Given the description of an element on the screen output the (x, y) to click on. 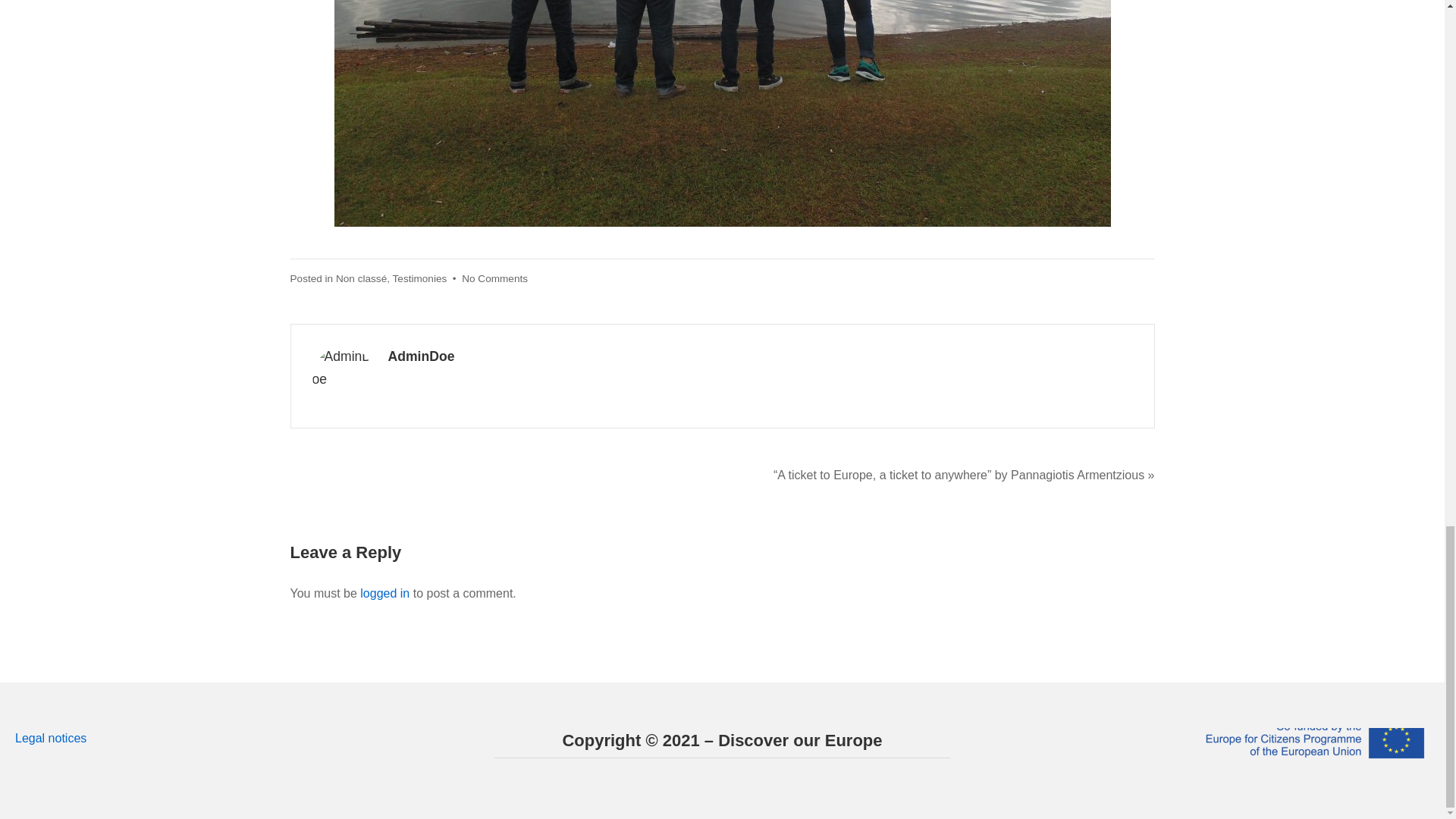
logged in (384, 593)
Testimonies (419, 278)
Posts by AdminDoe (421, 355)
AdminDoe (421, 355)
No Comments (494, 278)
